Given the description of an element on the screen output the (x, y) to click on. 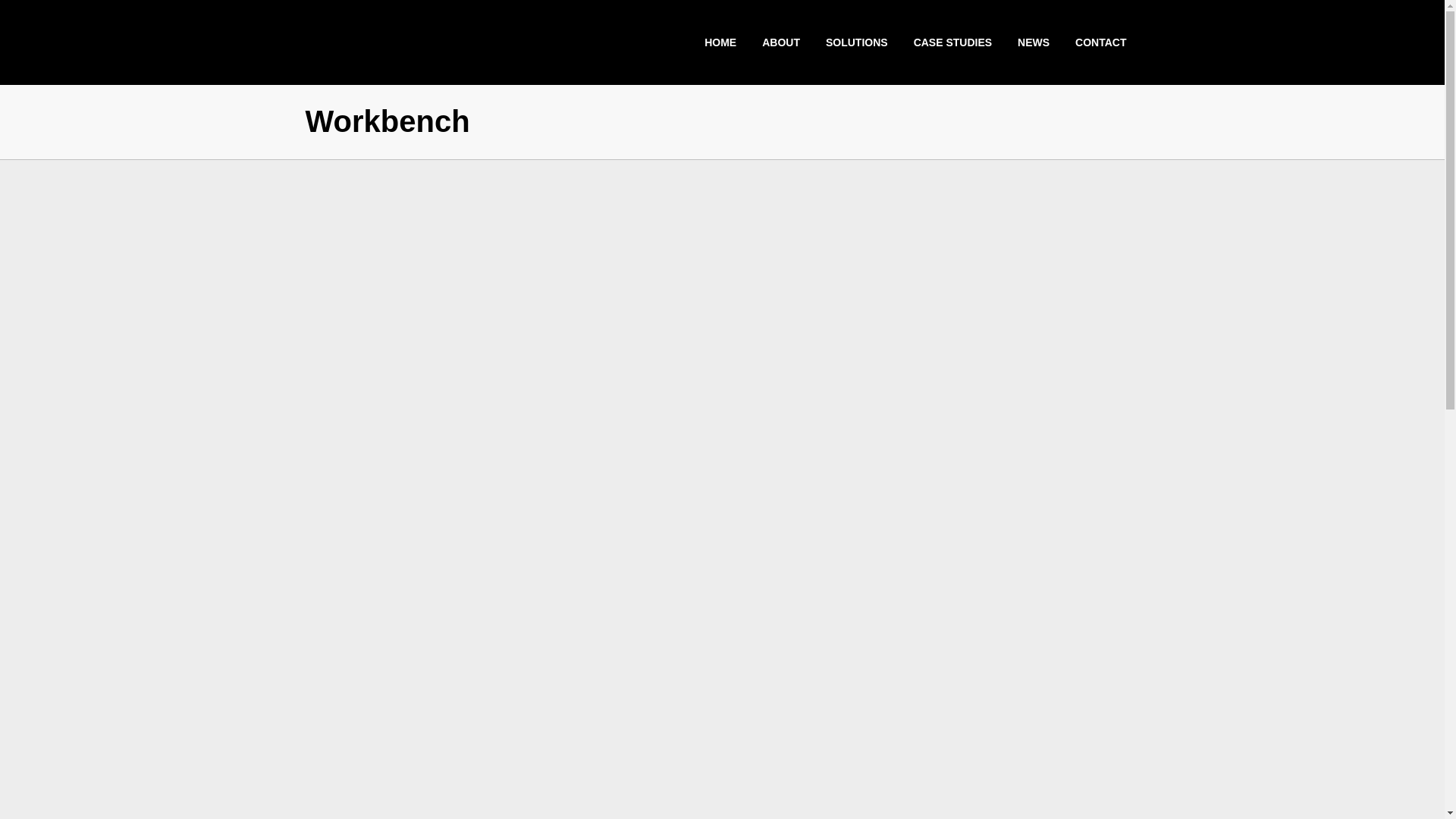
April77 Creative (748, 685)
CASE STUDIES (952, 42)
CONTACT (1100, 42)
SOLUTIONS (856, 42)
